Given the description of an element on the screen output the (x, y) to click on. 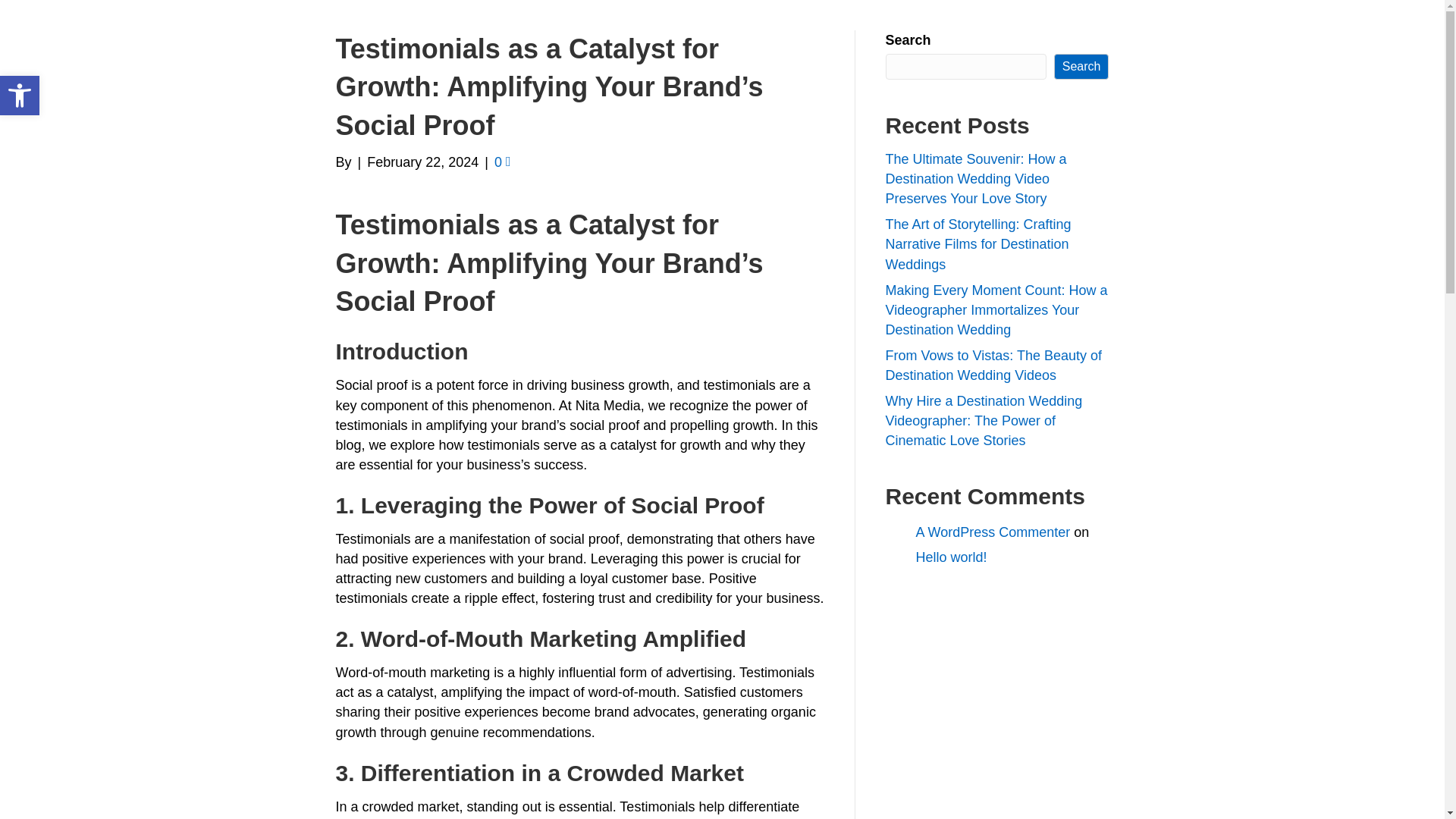
Accessibility Tools (19, 95)
0 (503, 161)
Search (1081, 66)
A WordPress Commenter (992, 531)
Accessibility Tools (19, 95)
Hello world! (19, 95)
